Given the description of an element on the screen output the (x, y) to click on. 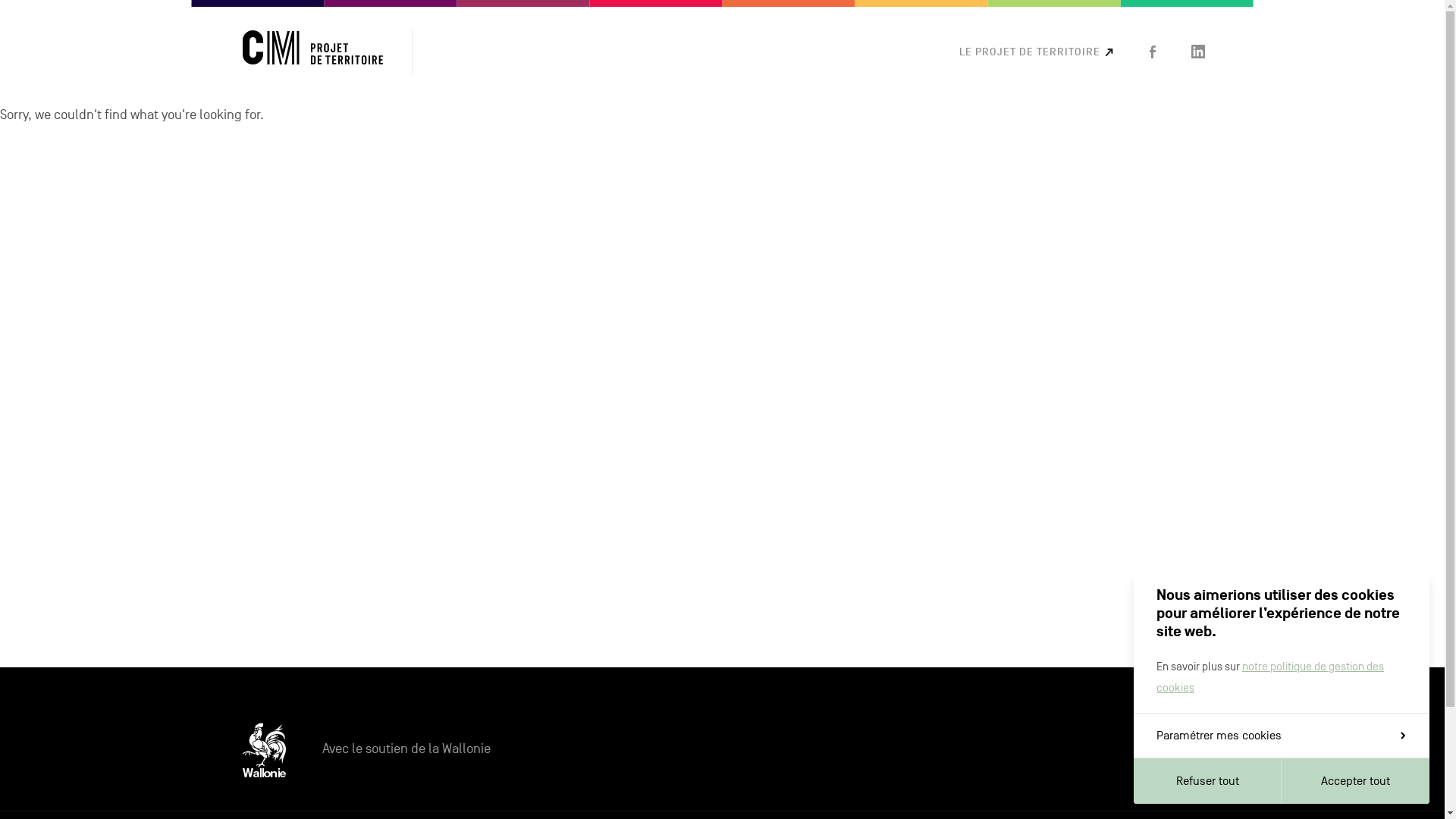
Facebook Element type: text (1151, 51)
Refuser tout Element type: text (1207, 780)
notre politique de gestion des cookies Element type: text (1269, 676)
LE PROJET DE TERRITOIRE Element type: text (1036, 52)
Accepter tout Element type: text (1355, 780)
Linkedin Element type: text (1197, 51)
WorkGroup Element type: text (312, 51)
